Given the description of an element on the screen output the (x, y) to click on. 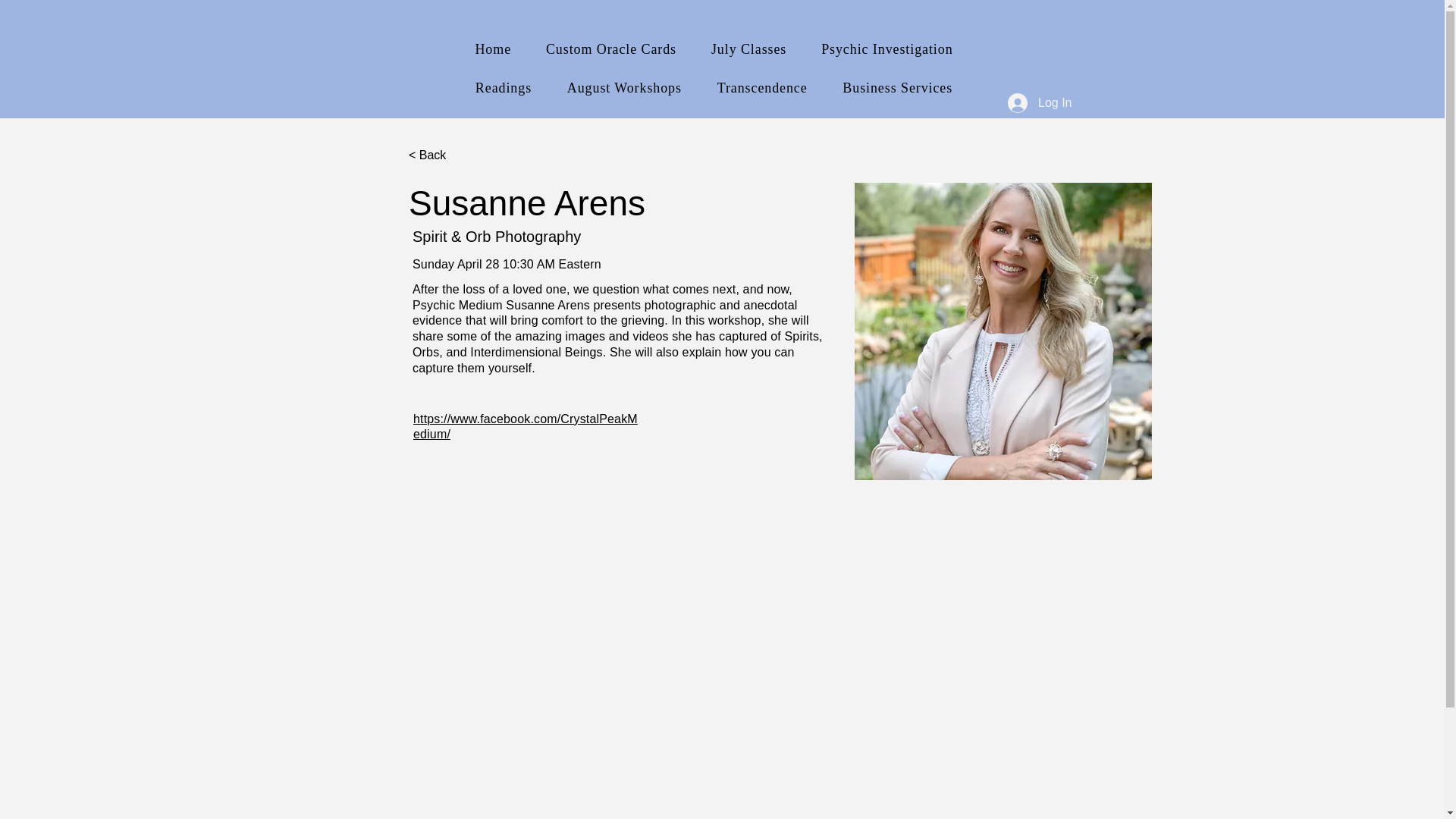
July Classes (748, 49)
Home (493, 49)
Psychic Investigation (886, 49)
Transcendence (761, 88)
Log In (1039, 102)
Readings (504, 88)
August Workshops (623, 88)
Custom Oracle Cards (610, 49)
Business Services (898, 88)
